Given the description of an element on the screen output the (x, y) to click on. 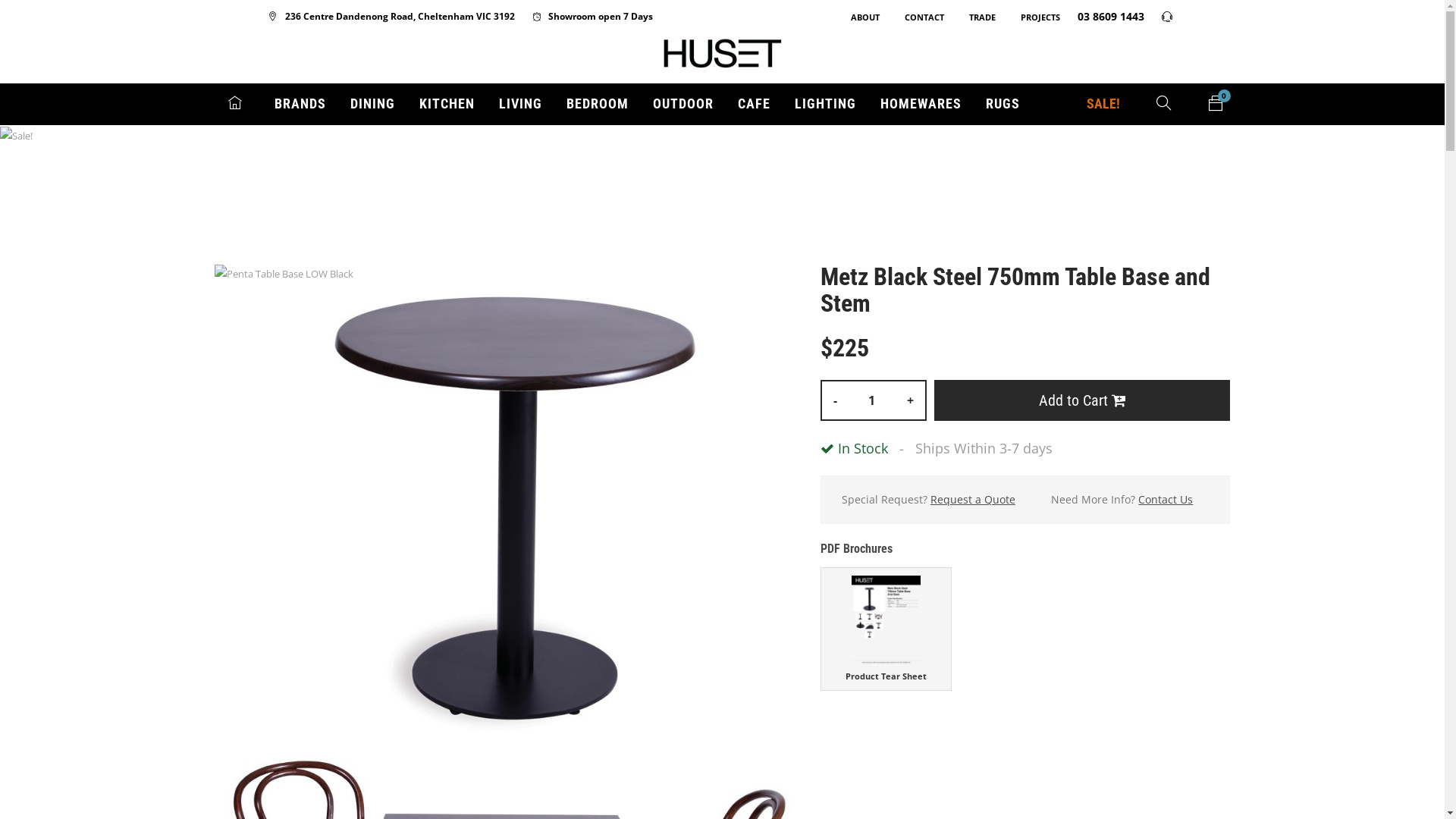
CAFE Element type: text (753, 104)
+ Element type: text (910, 400)
DINING Element type: text (372, 104)
OUTDOOR Element type: text (682, 104)
03 8609 1443 Element type: text (1102, 16)
CONTACT Element type: text (915, 16)
RUGS Element type: text (1002, 104)
KITCHEN Element type: text (445, 104)
PROJECTS Element type: text (1032, 16)
BEDROOM Element type: text (596, 104)
SALE! Element type: text (1102, 104)
BRANDS Element type: text (300, 104)
HOMEWARES Element type: text (919, 104)
TRADE Element type: text (974, 16)
- Element type: text (835, 400)
ABOUT Element type: text (857, 16)
Request a Quote Element type: text (972, 499)
Contact Us Element type: text (1165, 499)
LIVING Element type: text (520, 104)
Product Tear Sheet Element type: text (886, 628)
Add to Cart Element type: text (1082, 399)
LIGHTING Element type: text (825, 104)
